Given the description of an element on the screen output the (x, y) to click on. 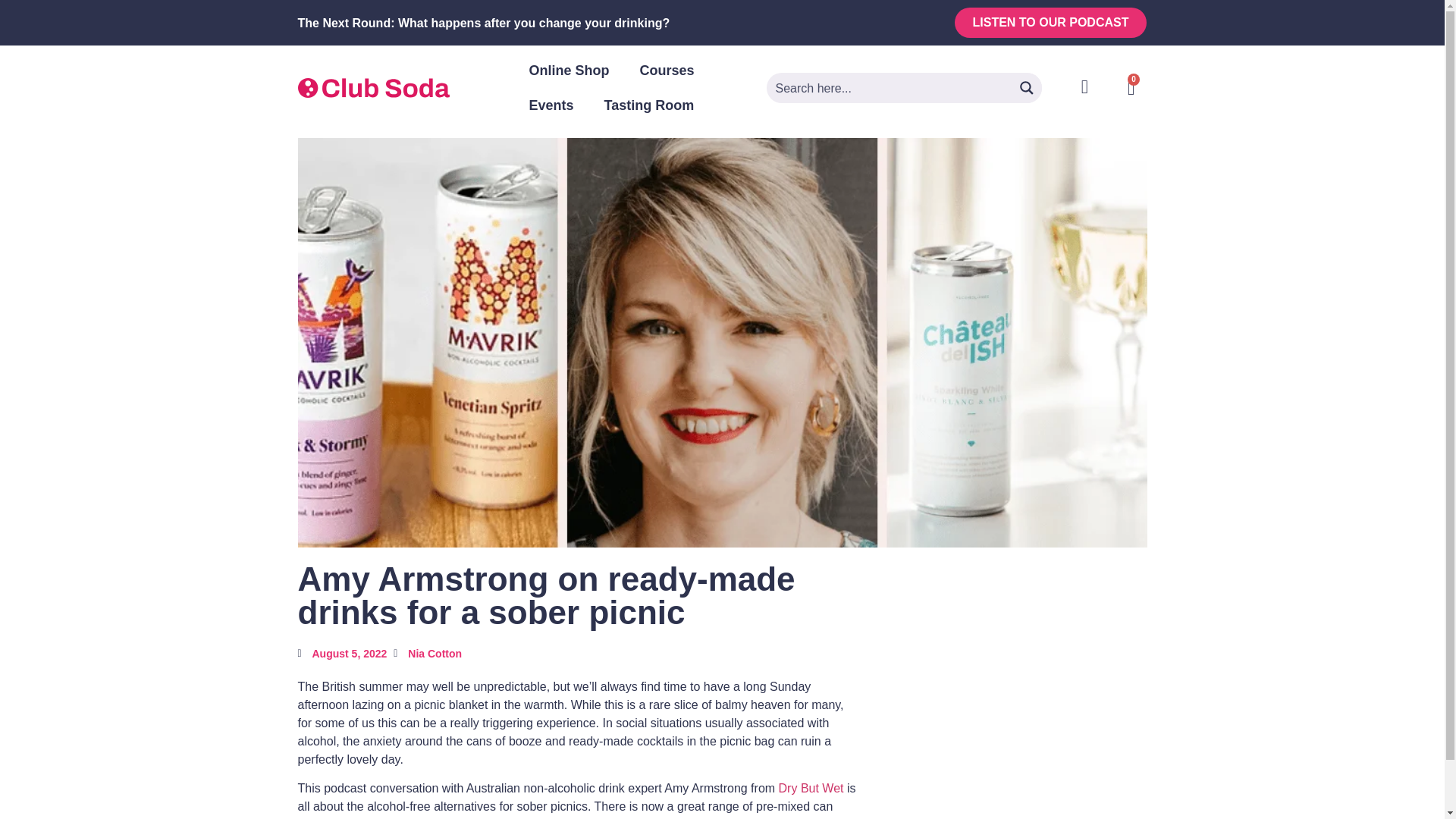
Tasting Room (649, 104)
Events (551, 104)
0 (1131, 88)
LISTEN TO OUR PODCAST (1051, 22)
Dry But Wet (811, 788)
Online Shop (568, 70)
Courses (667, 70)
